Given the description of an element on the screen output the (x, y) to click on. 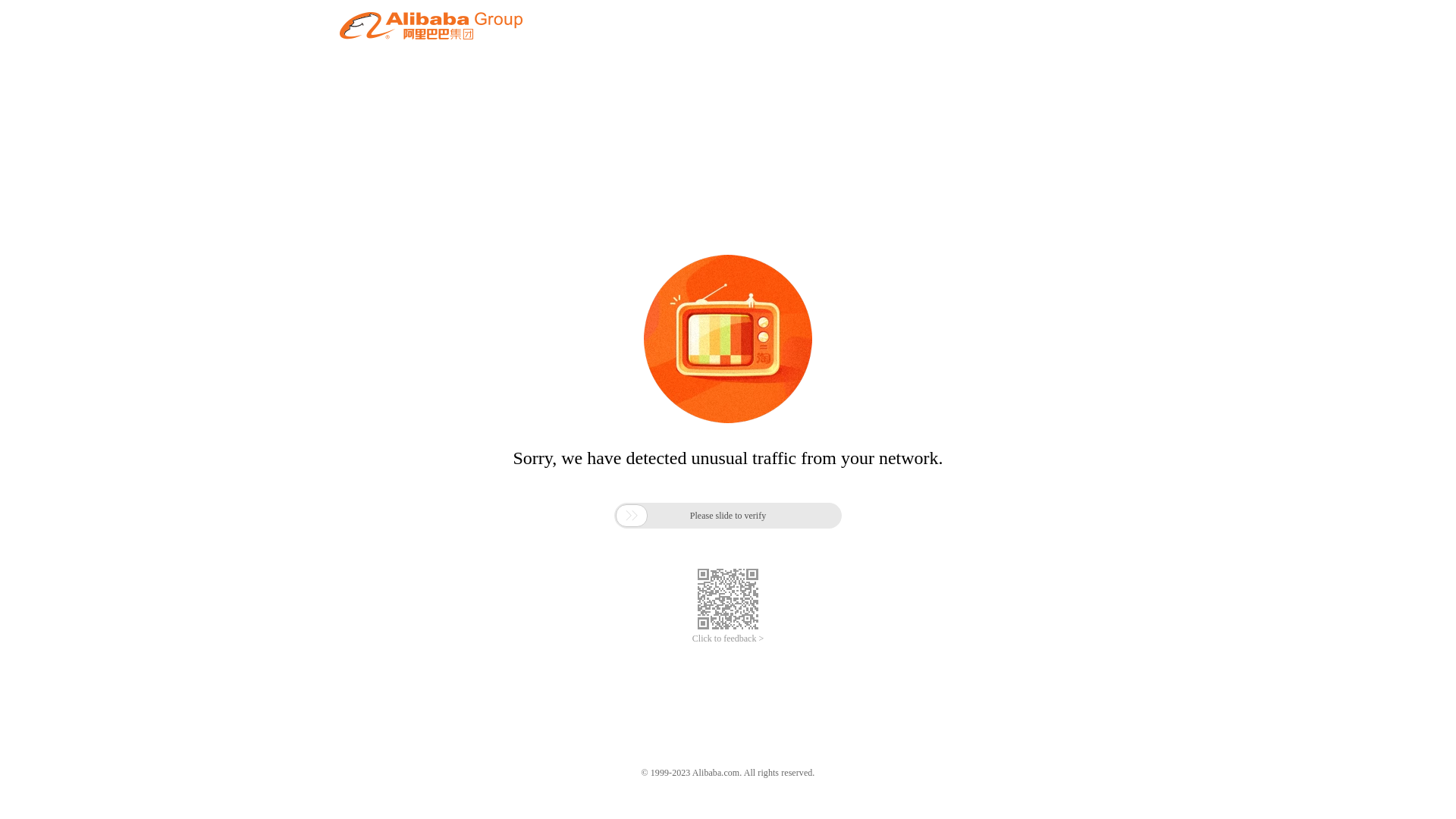
Click to feedback > Element type: text (727, 638)
